Given the description of an element on the screen output the (x, y) to click on. 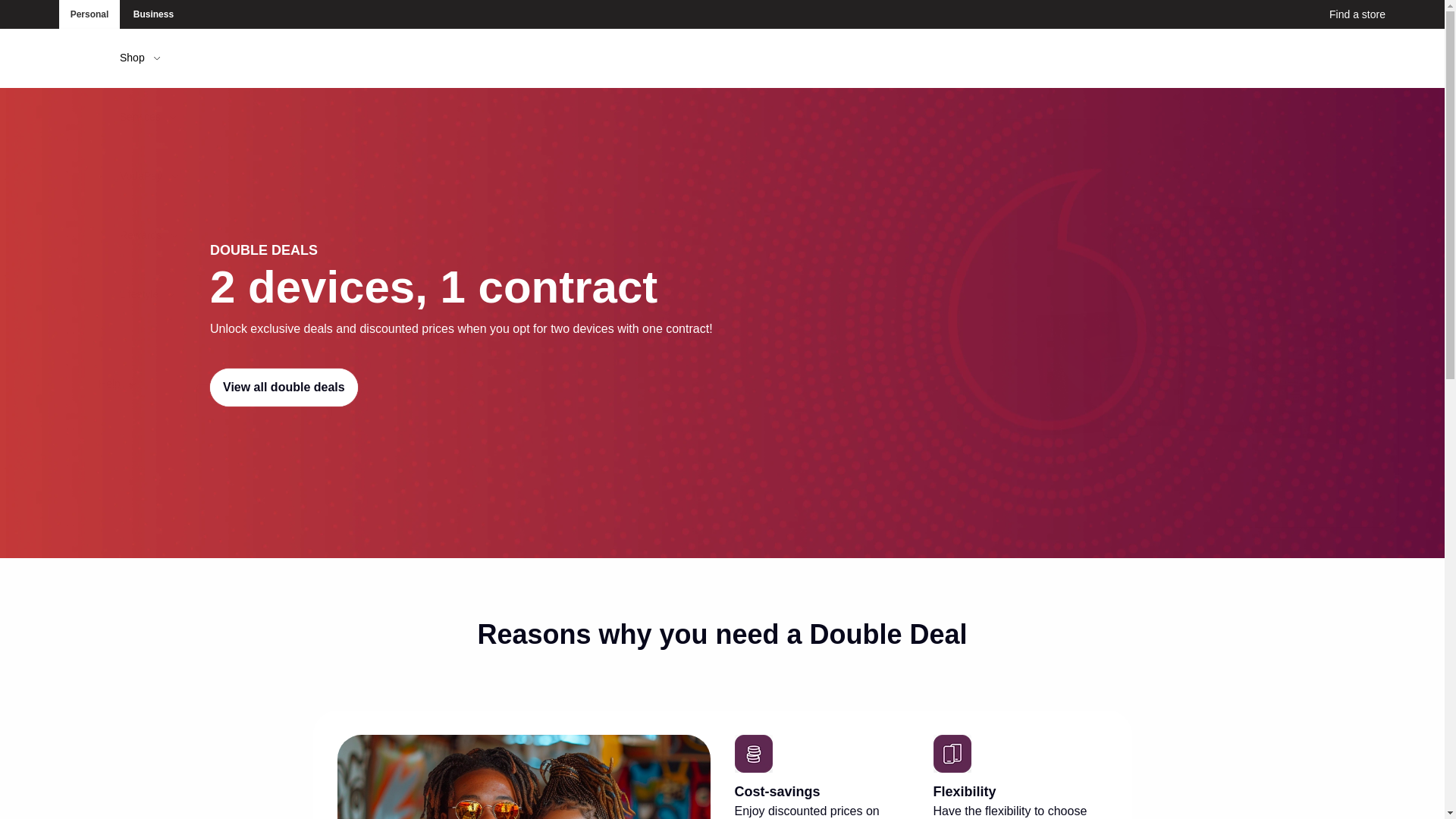
Business (152, 14)
Personal (89, 14)
Personal Site (89, 14)
Find a store (1345, 14)
Find a store (1345, 14)
